Given the description of an element on the screen output the (x, y) to click on. 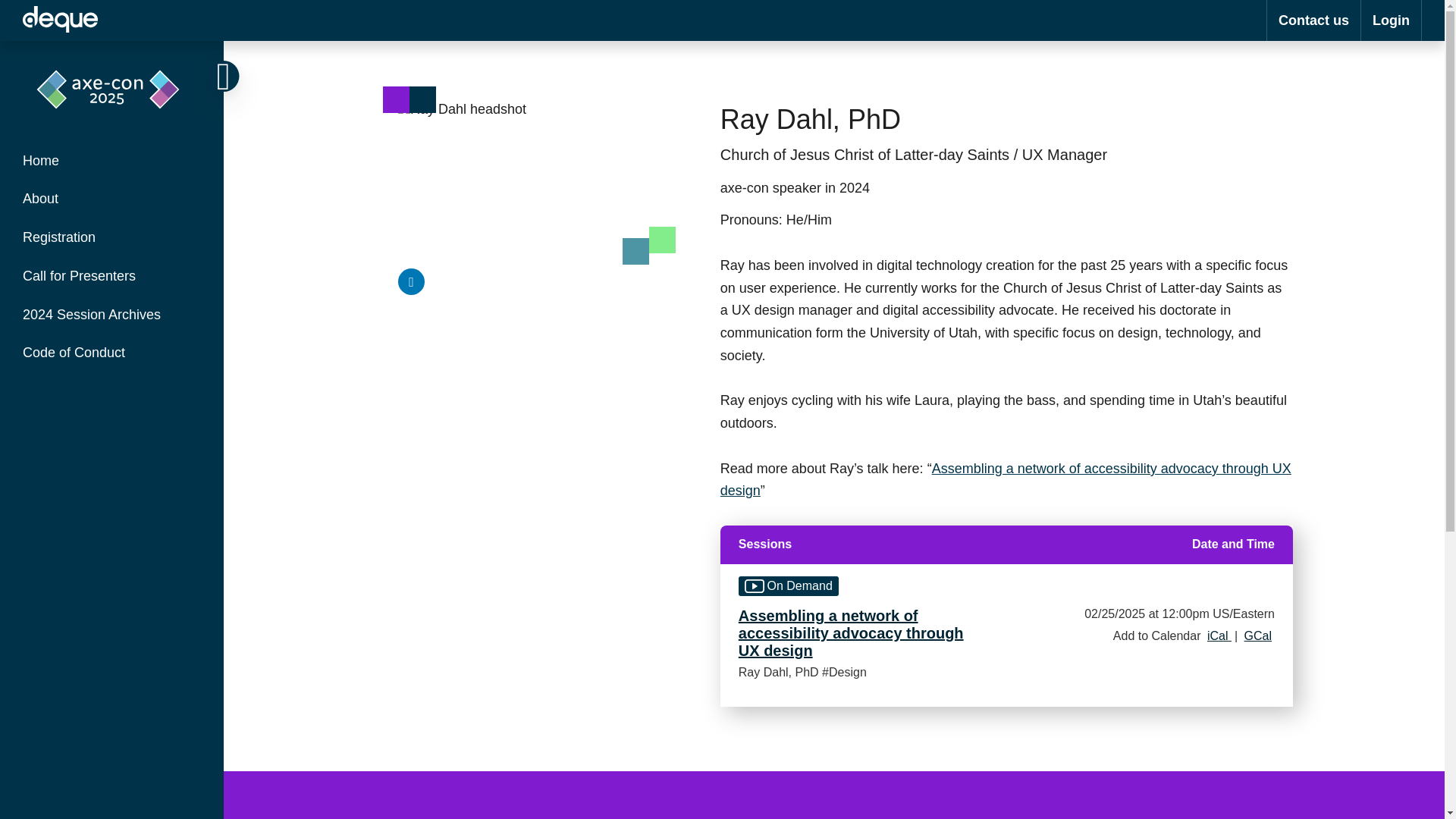
Back to the homepage (107, 133)
Code of Conduct (112, 352)
Home (112, 160)
GCal (1258, 635)
axe-con (60, 20)
iCal (1219, 635)
Login (1391, 20)
2024 Session Archives (112, 314)
Call for Presenters (112, 276)
